Given the description of an element on the screen output the (x, y) to click on. 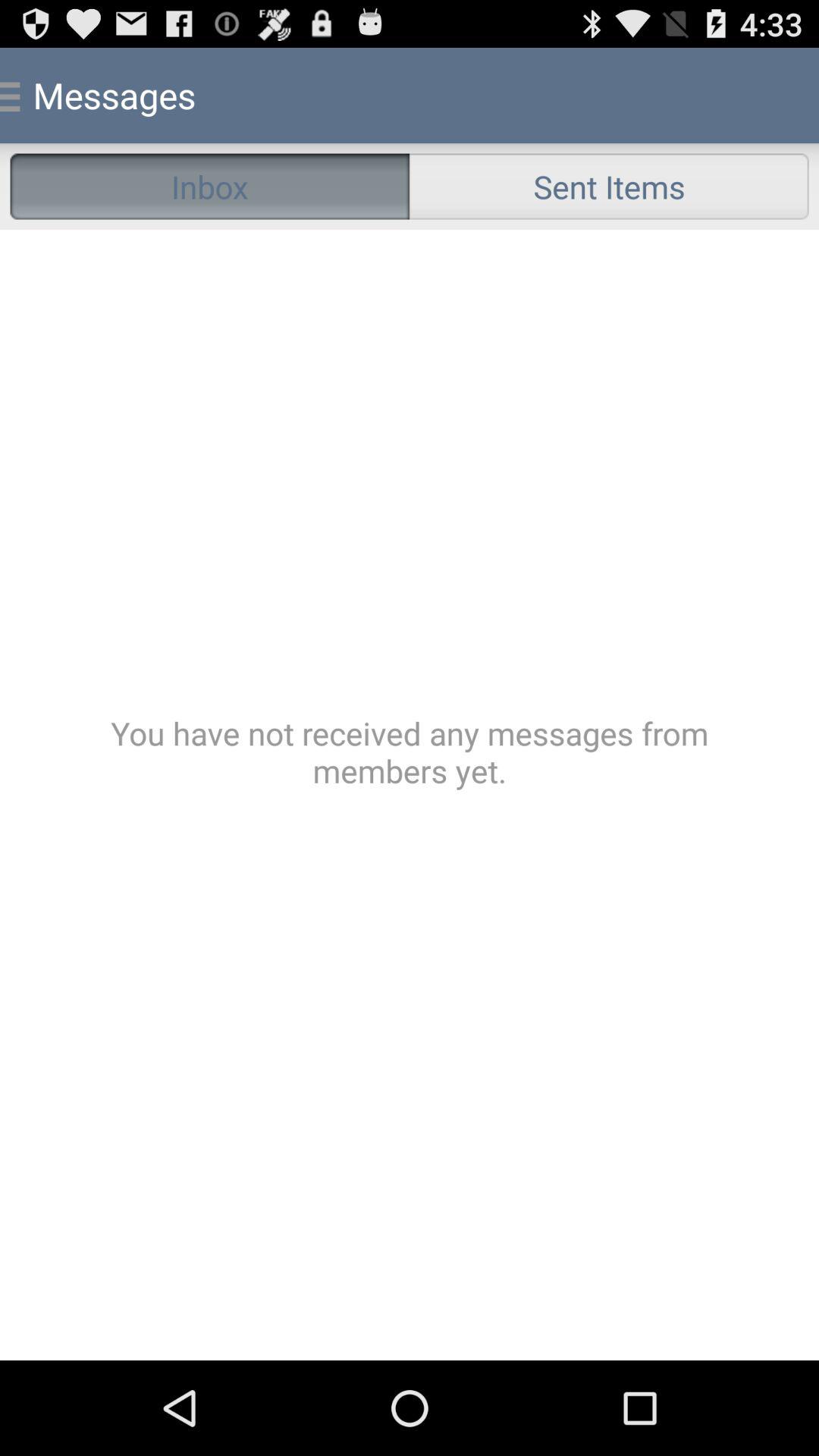
swipe until the inbox (209, 186)
